Given the description of an element on the screen output the (x, y) to click on. 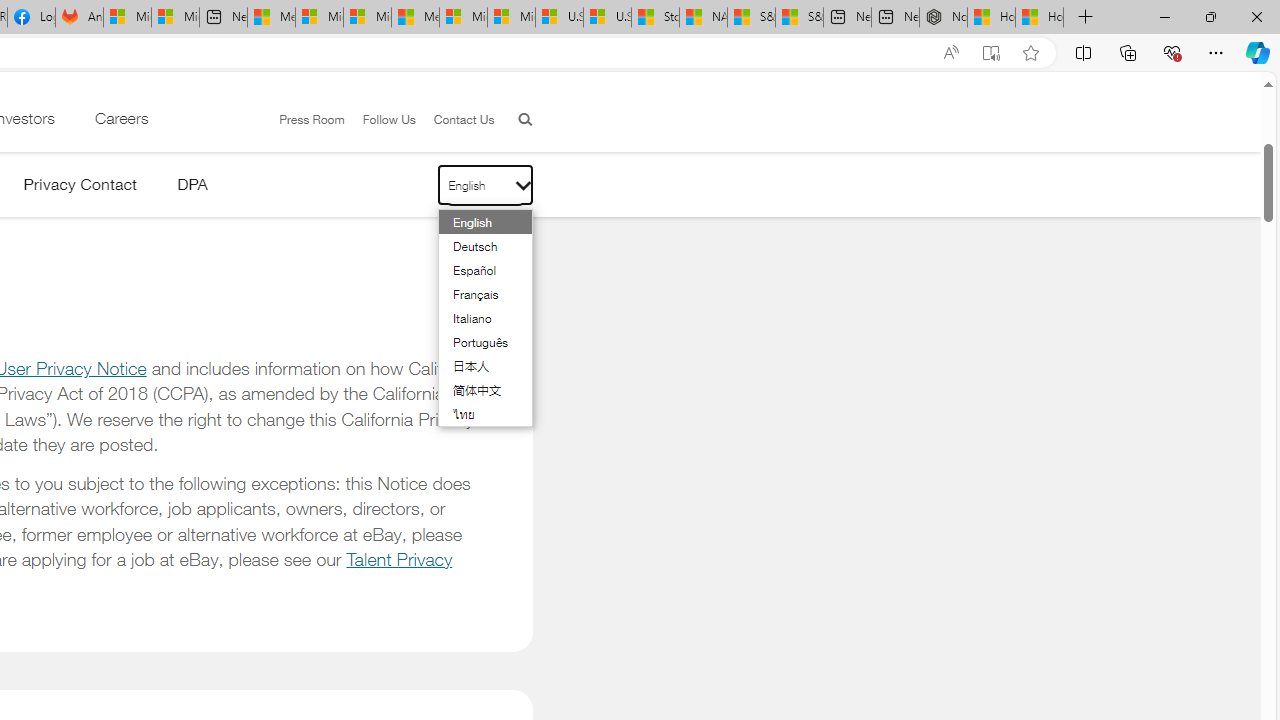
S&P 500, Nasdaq end lower, weighed by Nvidia dip | Watch (799, 17)
How to Use a Monitor With Your Closed Laptop (1039, 17)
Microsoft account | Privacy (319, 17)
Microsoft account | Home (367, 17)
Add this page to favorites (Ctrl+D) (1030, 53)
Browser essentials (1171, 52)
Italiano (474, 317)
Copilot (Ctrl+Shift+.) (1258, 52)
Close (1256, 16)
